Given the description of an element on the screen output the (x, y) to click on. 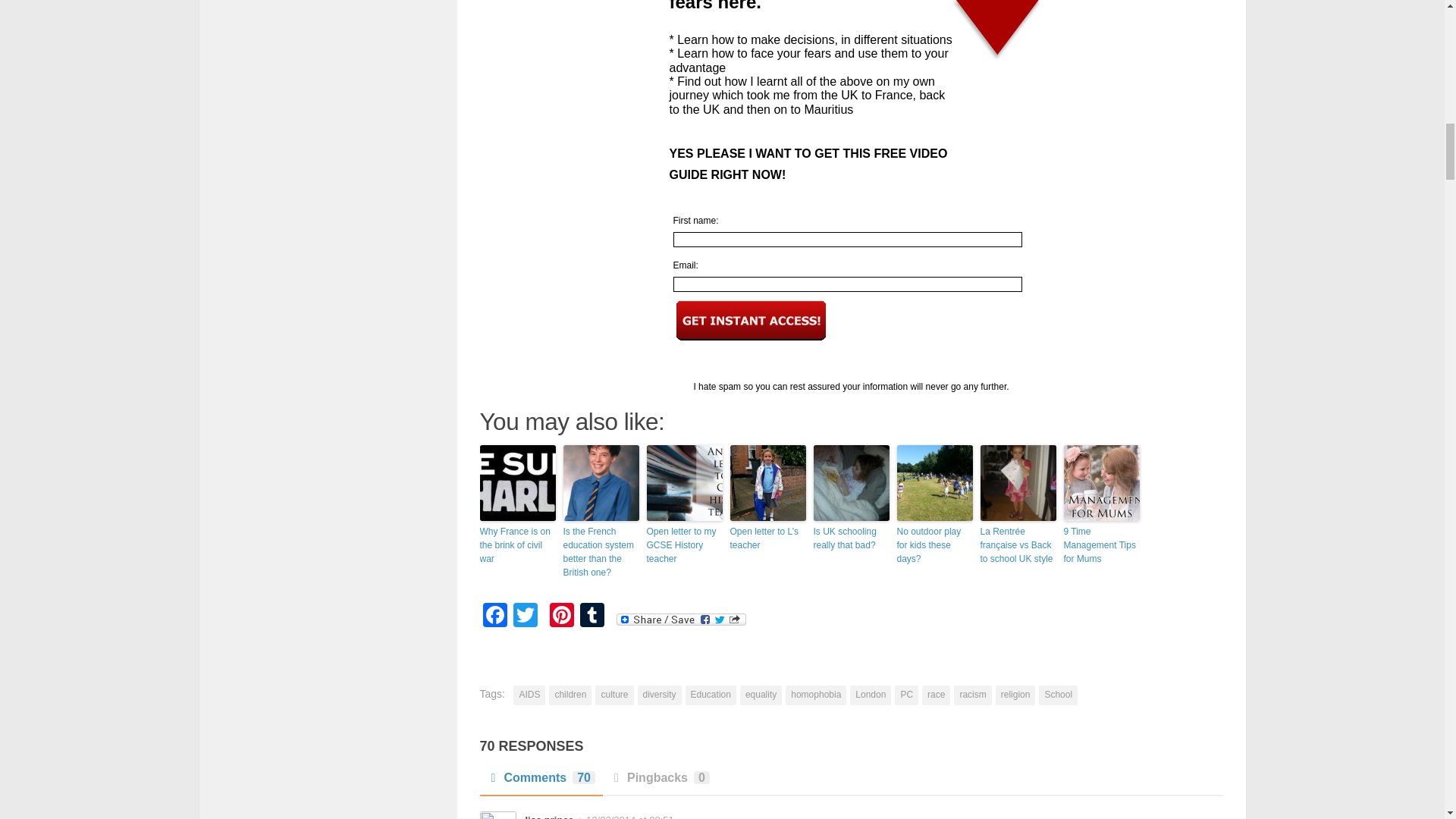
Tumblr (591, 616)
Twitter (524, 616)
Pinterest (561, 616)
equality (760, 695)
Open letter to my GCSE History teacher (684, 544)
Is UK schooling really that bad? (850, 538)
Education (710, 695)
children (569, 695)
culture (614, 695)
9 Time Management Tips for Mums (1100, 544)
Is the French education system better than the British one? (600, 551)
No outdoor play for kids these days? (934, 544)
homophobia (815, 695)
Facebook (494, 616)
Facebook (494, 616)
